Given the description of an element on the screen output the (x, y) to click on. 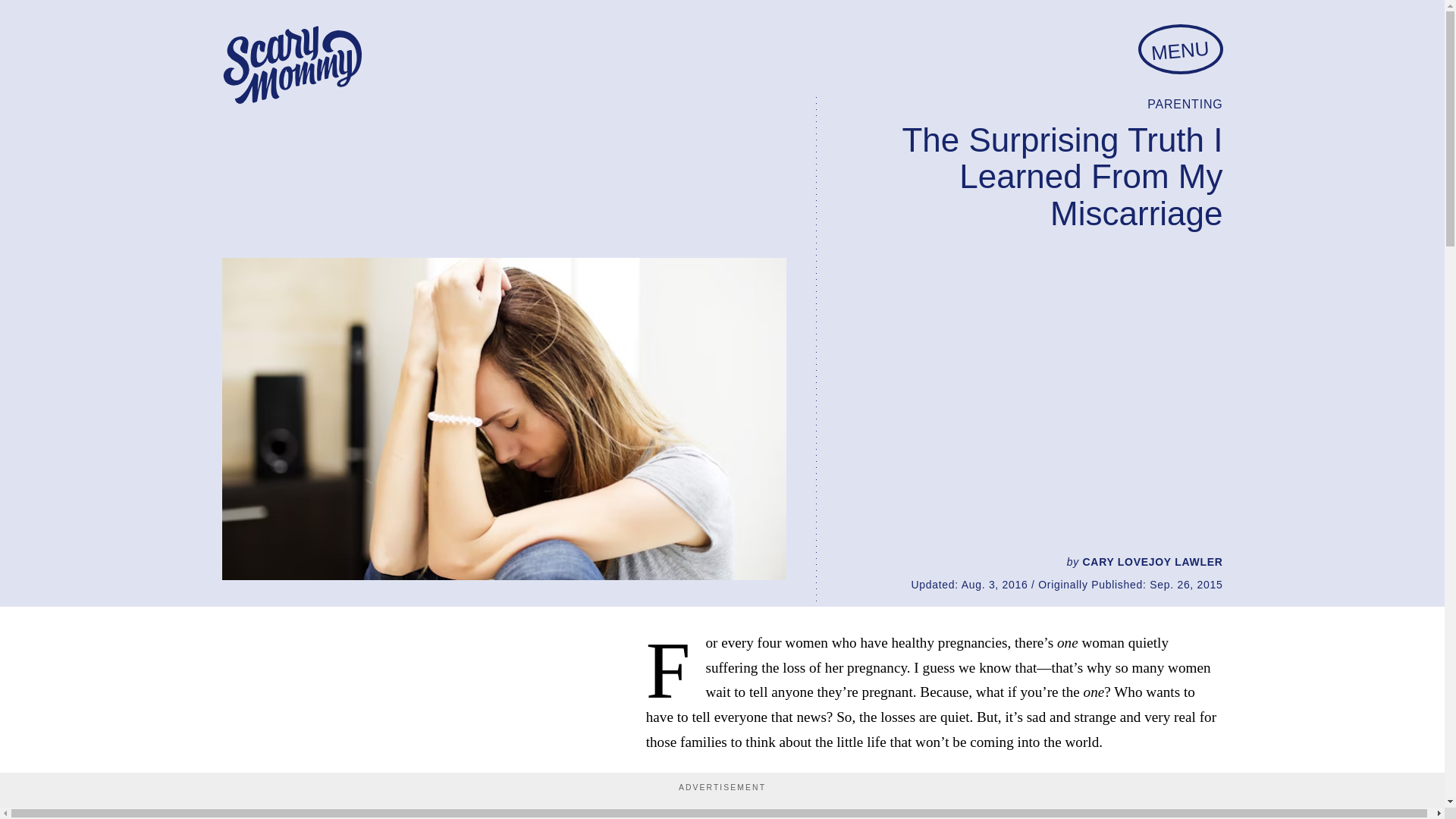
Scary Mommy (291, 64)
